Given the description of an element on the screen output the (x, y) to click on. 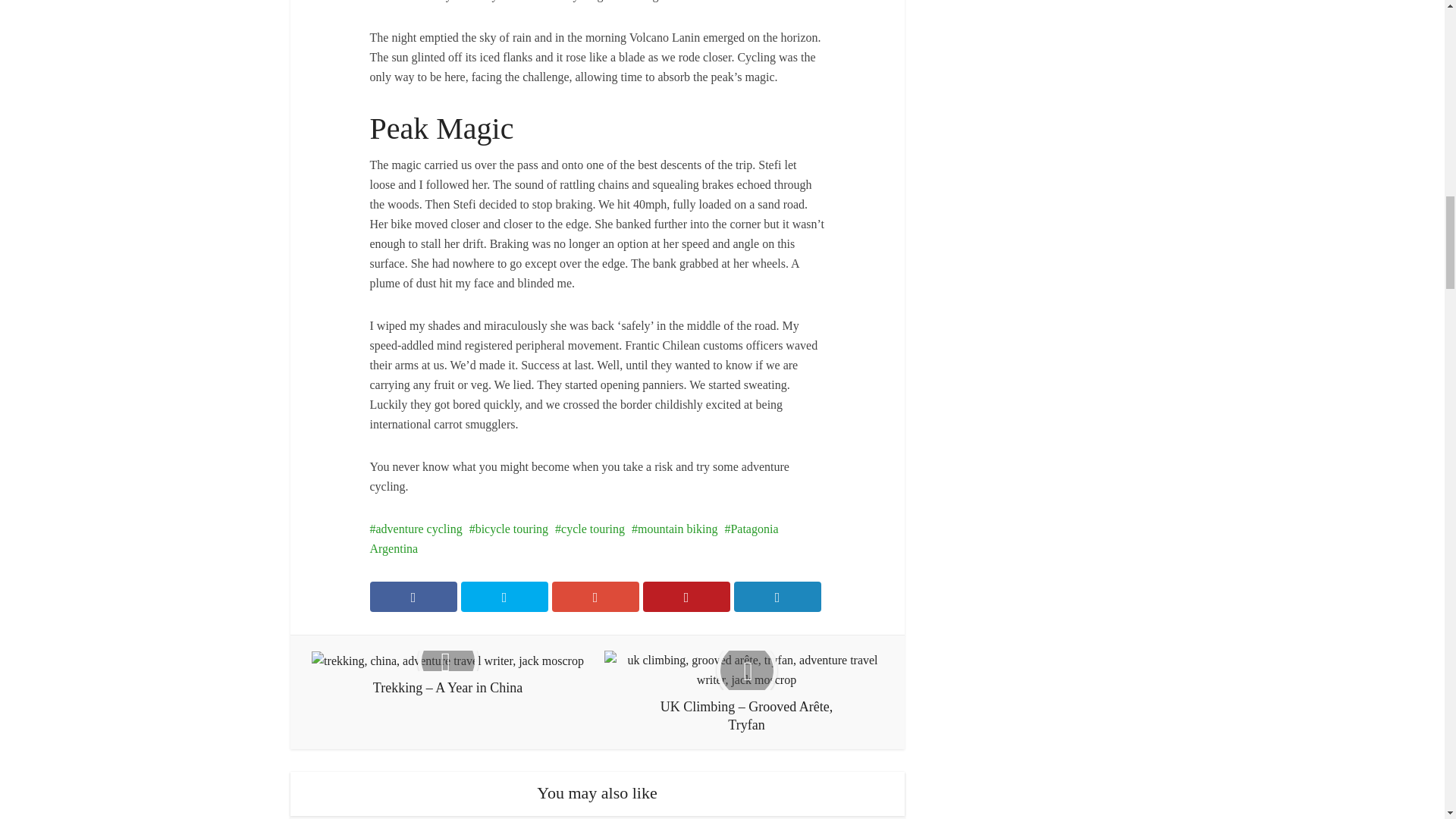
adventure cycling (416, 528)
